Given the description of an element on the screen output the (x, y) to click on. 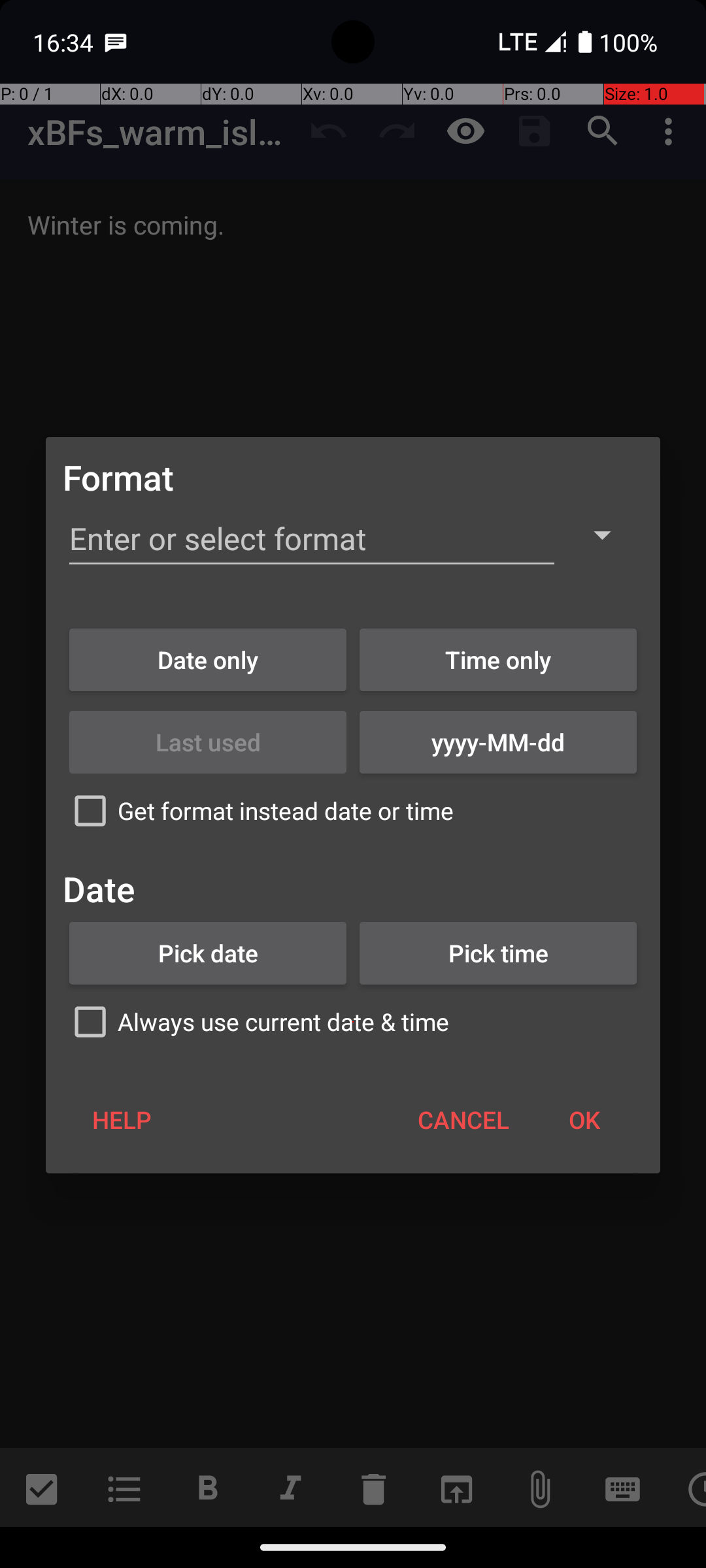
16:34 Element type: android.widget.TextView (64, 41)
